Given the description of an element on the screen output the (x, y) to click on. 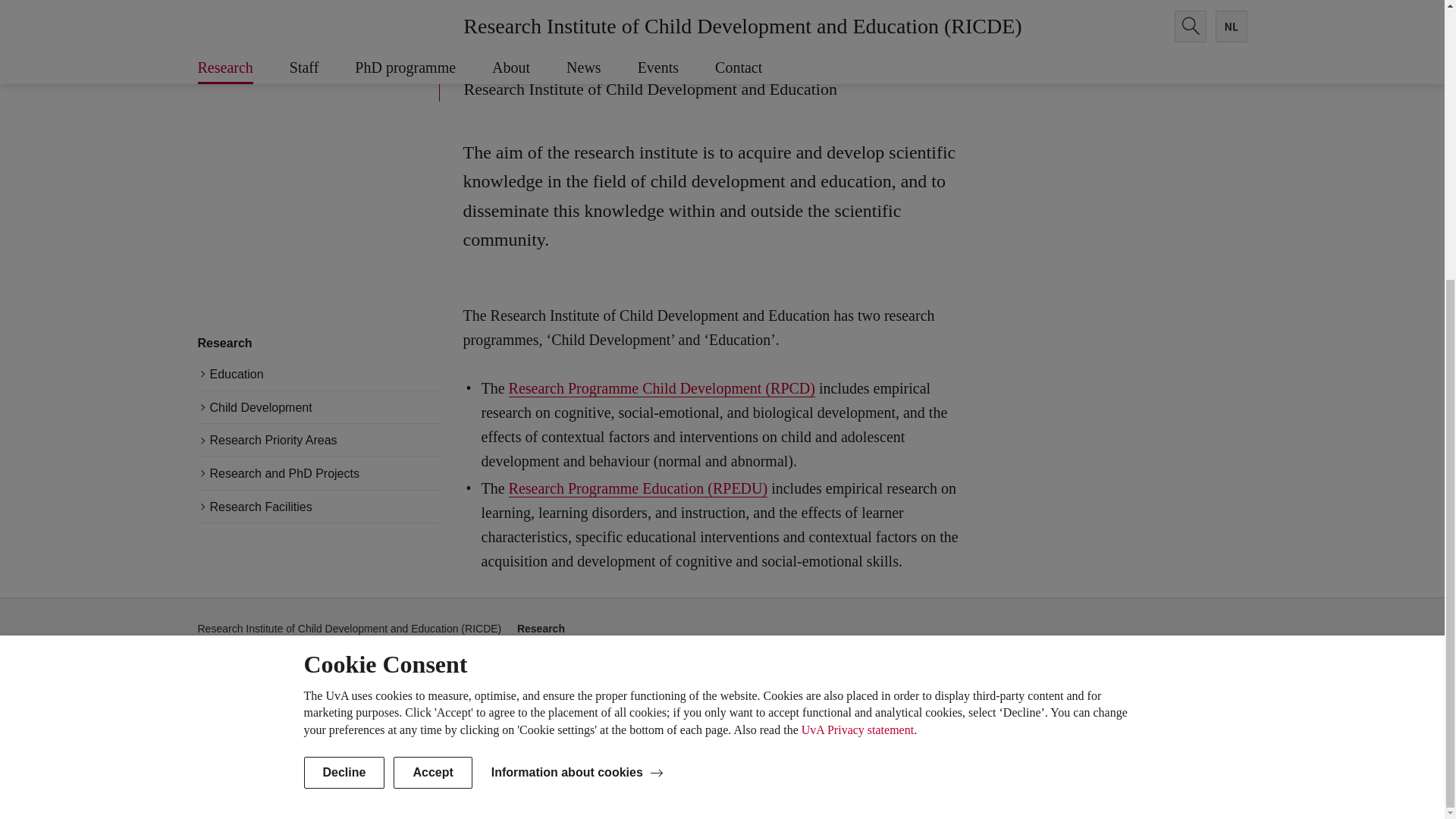
Privacy (1139, 787)
About this site (1076, 787)
University of Amsterdam (333, 786)
